Given the description of an element on the screen output the (x, y) to click on. 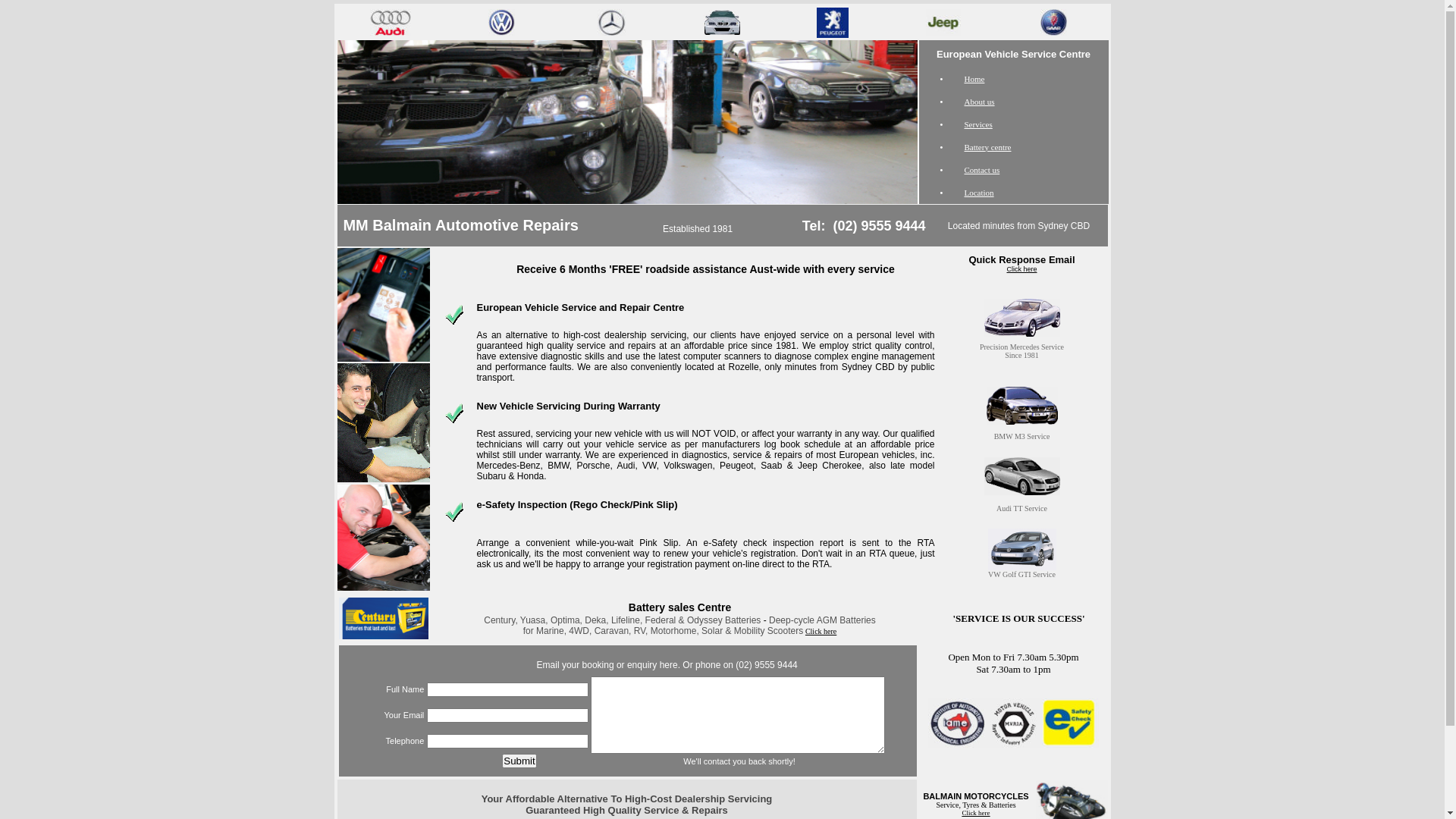
Contact us Element type: text (982, 169)
Services Element type: text (978, 123)
Click here Element type: text (1021, 269)
Battery centre Element type: text (987, 146)
Battery sales Centre Element type: text (679, 606)
Submit Element type: text (519, 760)
e-Safety Inspection (Rego Check/Pink Slip) Element type: text (576, 504)
About us Element type: text (979, 101)
BALMAIN MOTORCYCLES
Service, Tyres & Batteries Element type: text (975, 799)
Click here Element type: text (975, 812)
Located minutes from Sydney CBD Element type: text (1018, 224)
Pink Slip Element type: text (658, 542)
Deep-cycle AGM Batteries Element type: text (821, 619)
Home Element type: text (974, 78)
Click here Element type: text (820, 630)
Email Element type: text (547, 664)
Location Element type: text (979, 192)
